Given the description of an element on the screen output the (x, y) to click on. 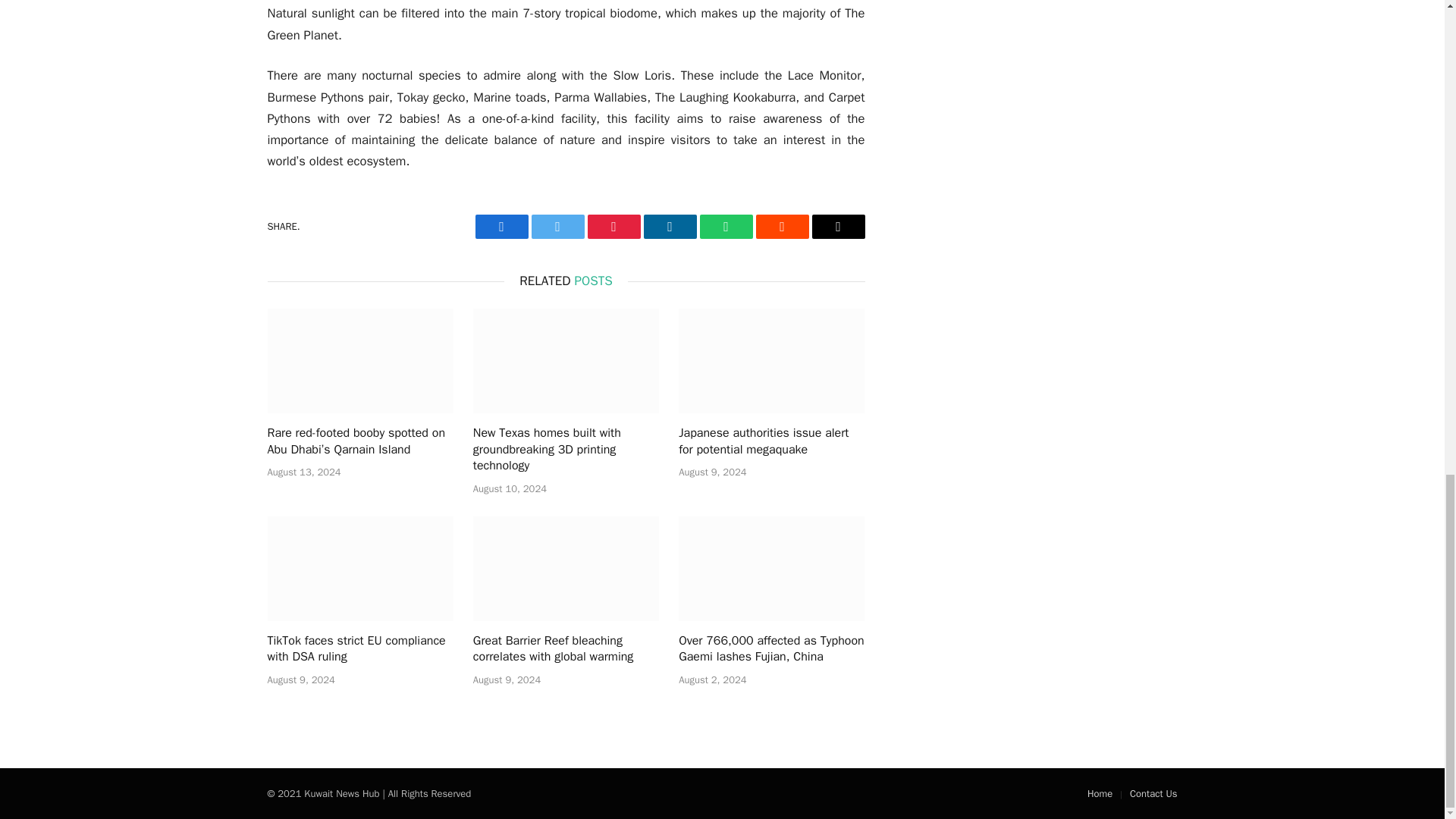
Share on Facebook (500, 226)
Facebook (500, 226)
Twitter (557, 226)
